Given the description of an element on the screen output the (x, y) to click on. 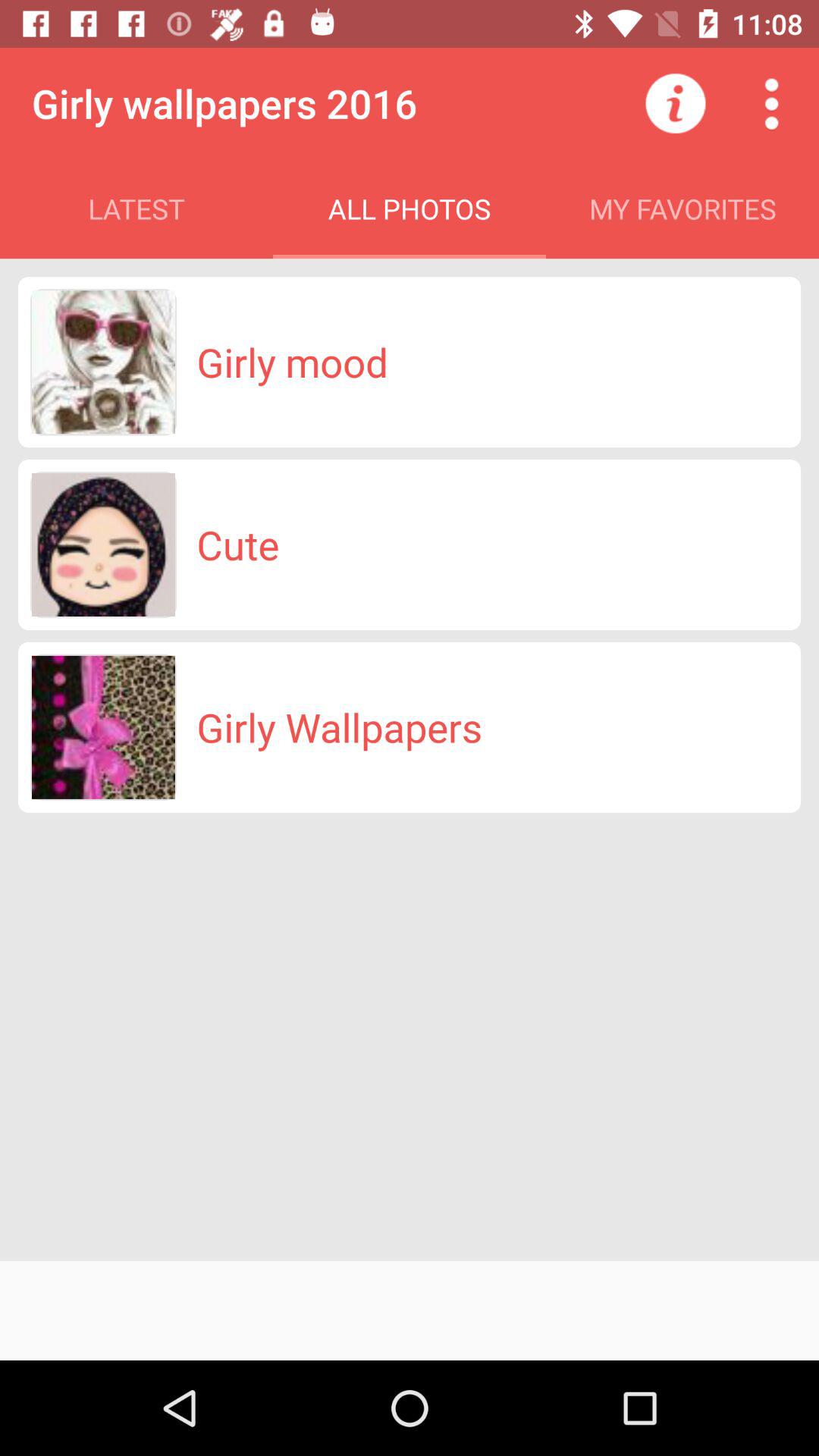
swipe to the girly mood (291, 361)
